Given the description of an element on the screen output the (x, y) to click on. 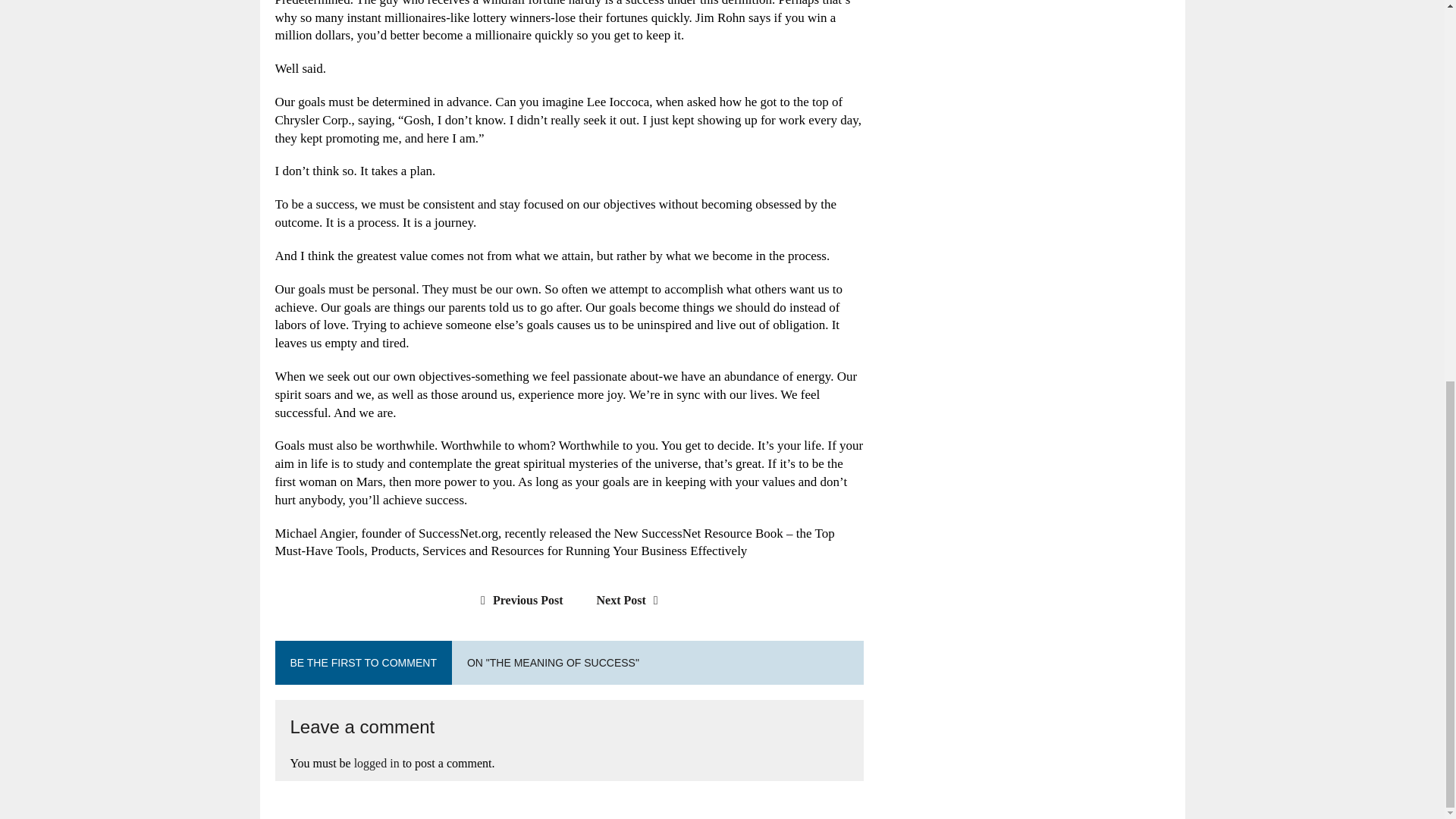
Previous Post (517, 599)
logged in (375, 762)
Next Post (630, 599)
